Given the description of an element on the screen output the (x, y) to click on. 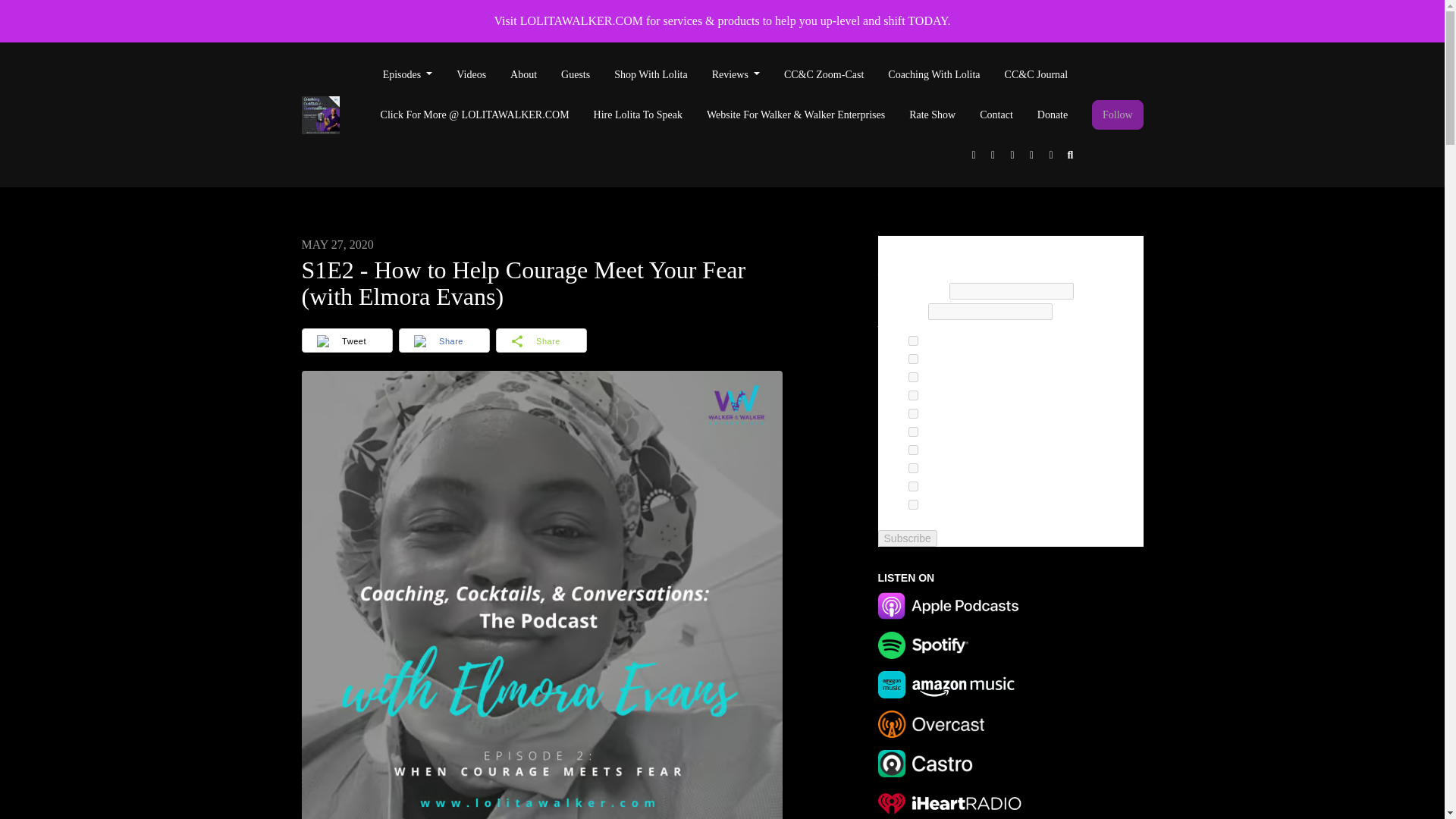
256 (913, 486)
32 (913, 431)
4 (913, 377)
512 (913, 504)
Episodes (408, 74)
1 (913, 340)
Reviews (735, 74)
About (522, 74)
2 (913, 358)
Coaching With Lolita (933, 74)
16 (913, 413)
Guests (575, 74)
Subscribe (907, 538)
Shop With Lolita (650, 74)
Videos (470, 74)
